Given the description of an element on the screen output the (x, y) to click on. 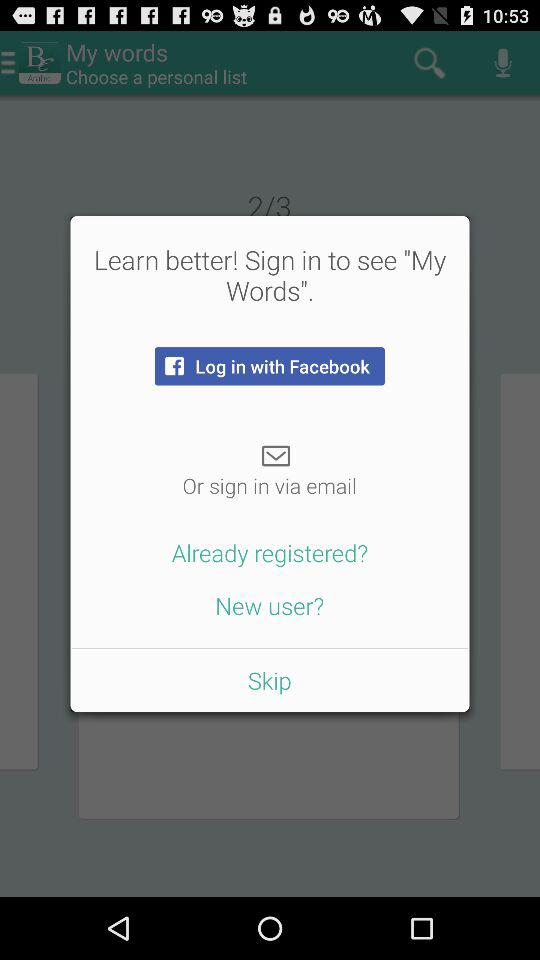
jump until already registered? icon (269, 552)
